Given the description of an element on the screen output the (x, y) to click on. 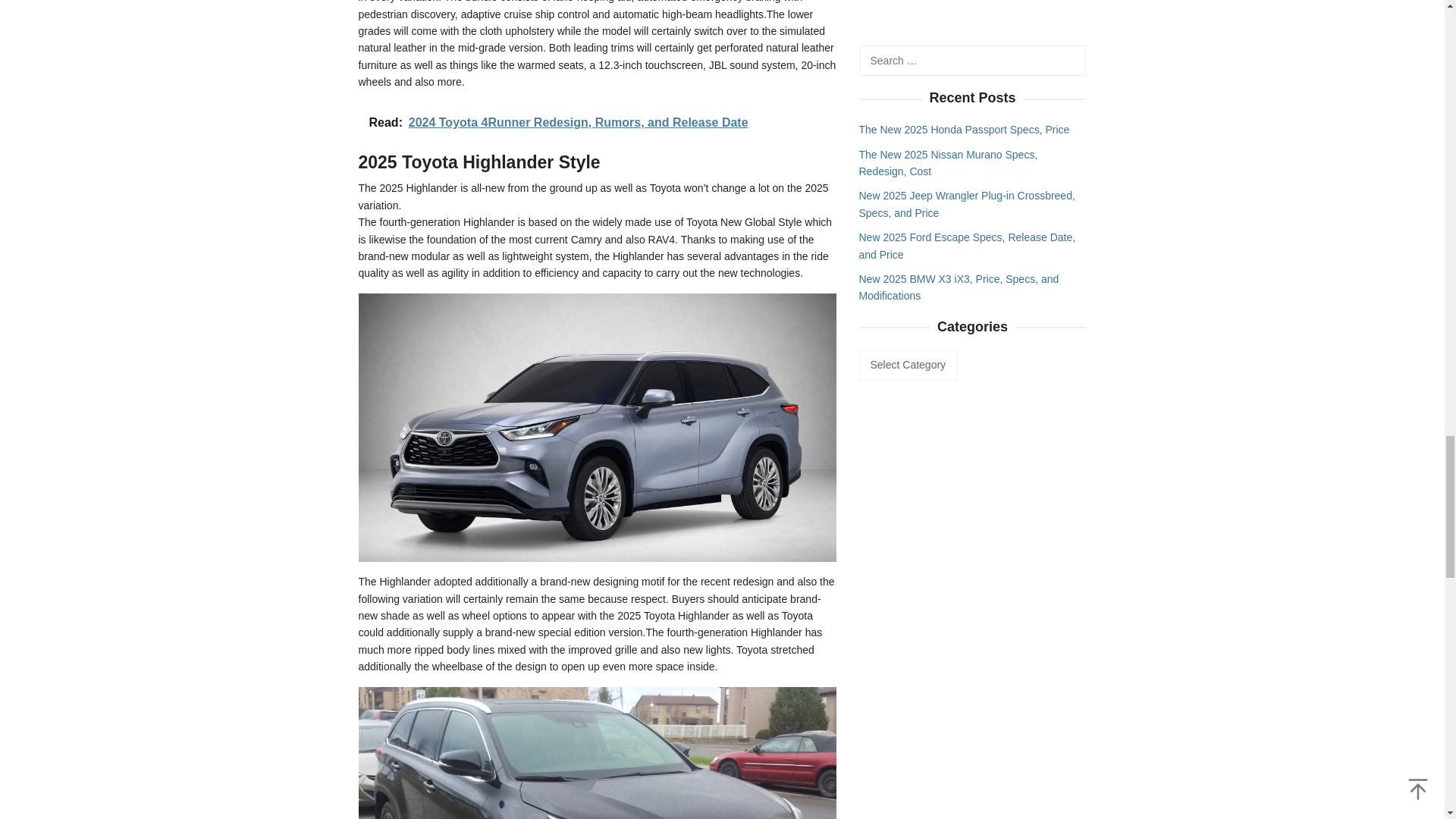
Toyota Highlander Specs (596, 426)
Toyota Highlander Specs (596, 427)
Toyota Highlander Redesign (596, 753)
